Given the description of an element on the screen output the (x, y) to click on. 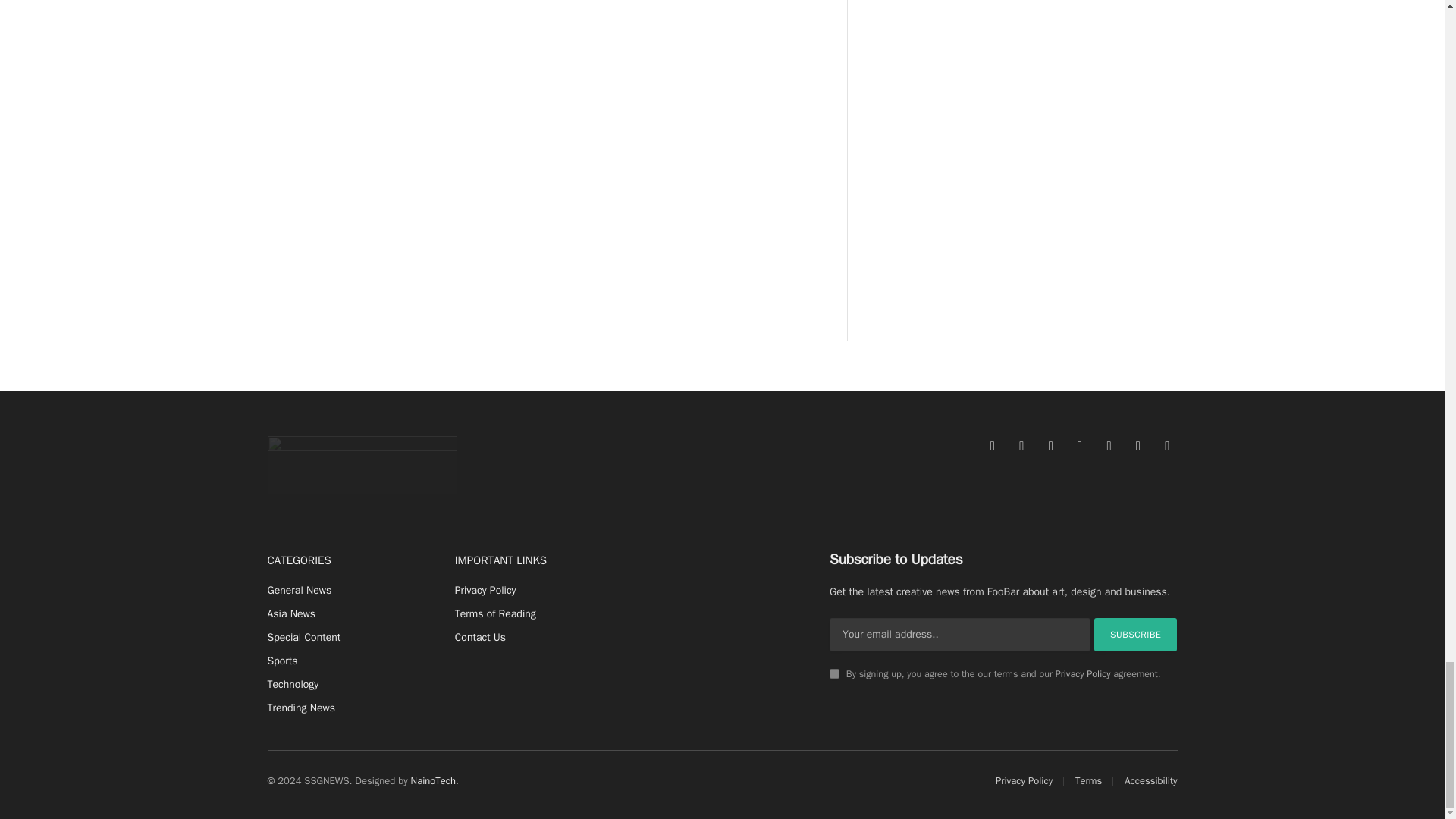
on (834, 673)
Subscribe (1135, 634)
